Given the description of an element on the screen output the (x, y) to click on. 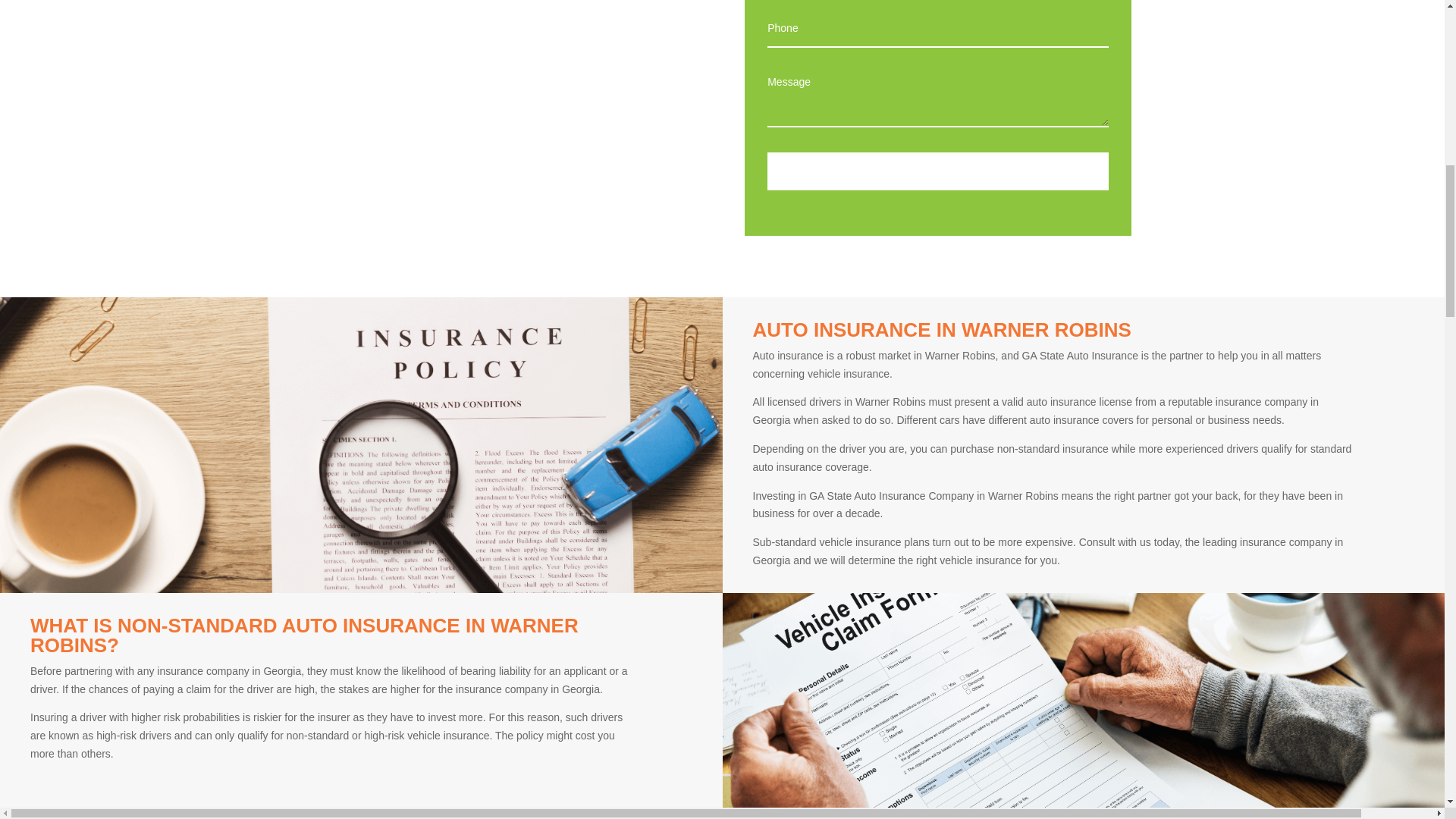
Submit (937, 171)
